Given the description of an element on the screen output the (x, y) to click on. 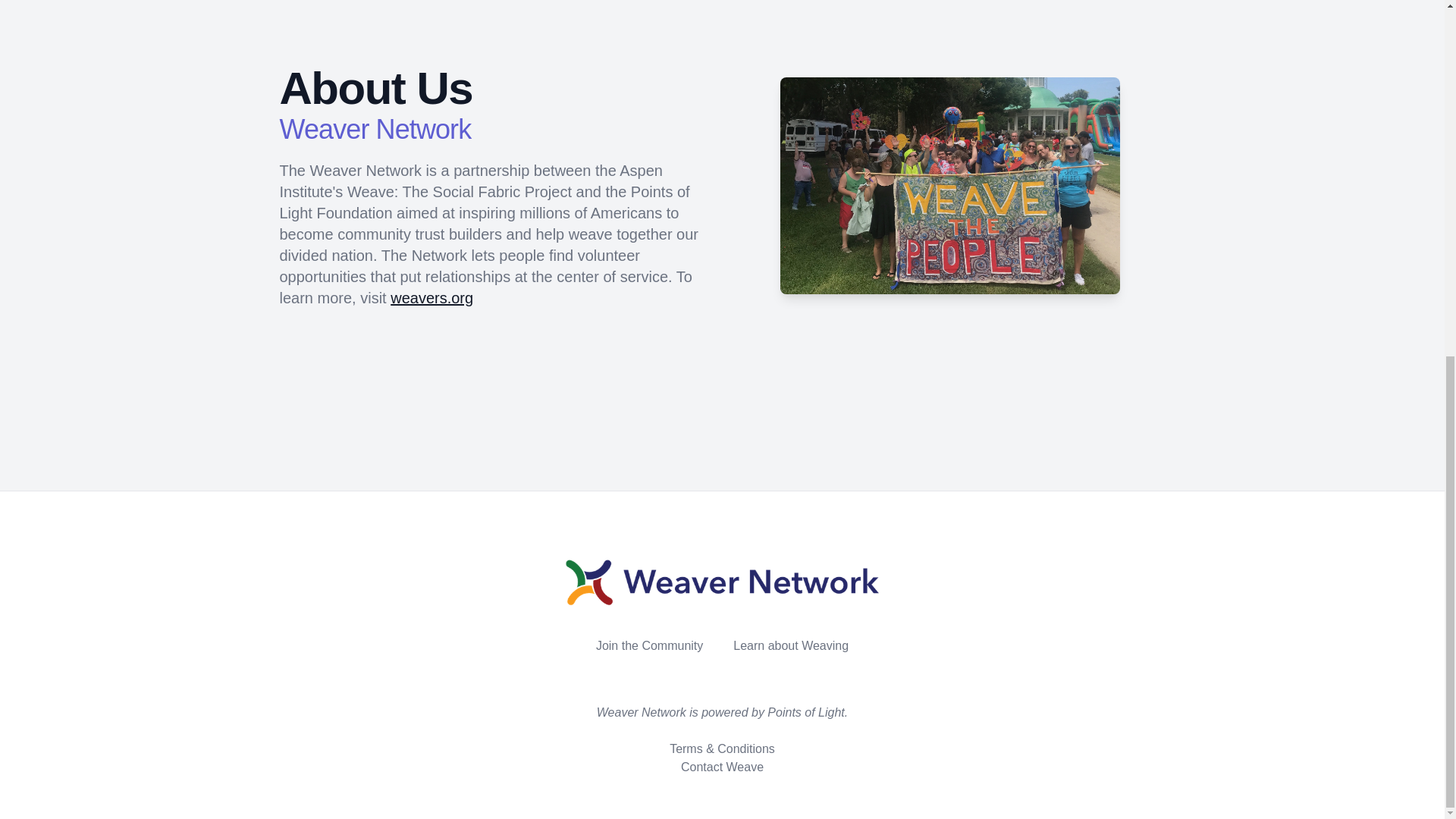
Contact Weave (721, 767)
Learn about Weaving (790, 645)
weavers.org (431, 297)
Join the Community (649, 645)
Points of Light (805, 712)
